Given the description of an element on the screen output the (x, y) to click on. 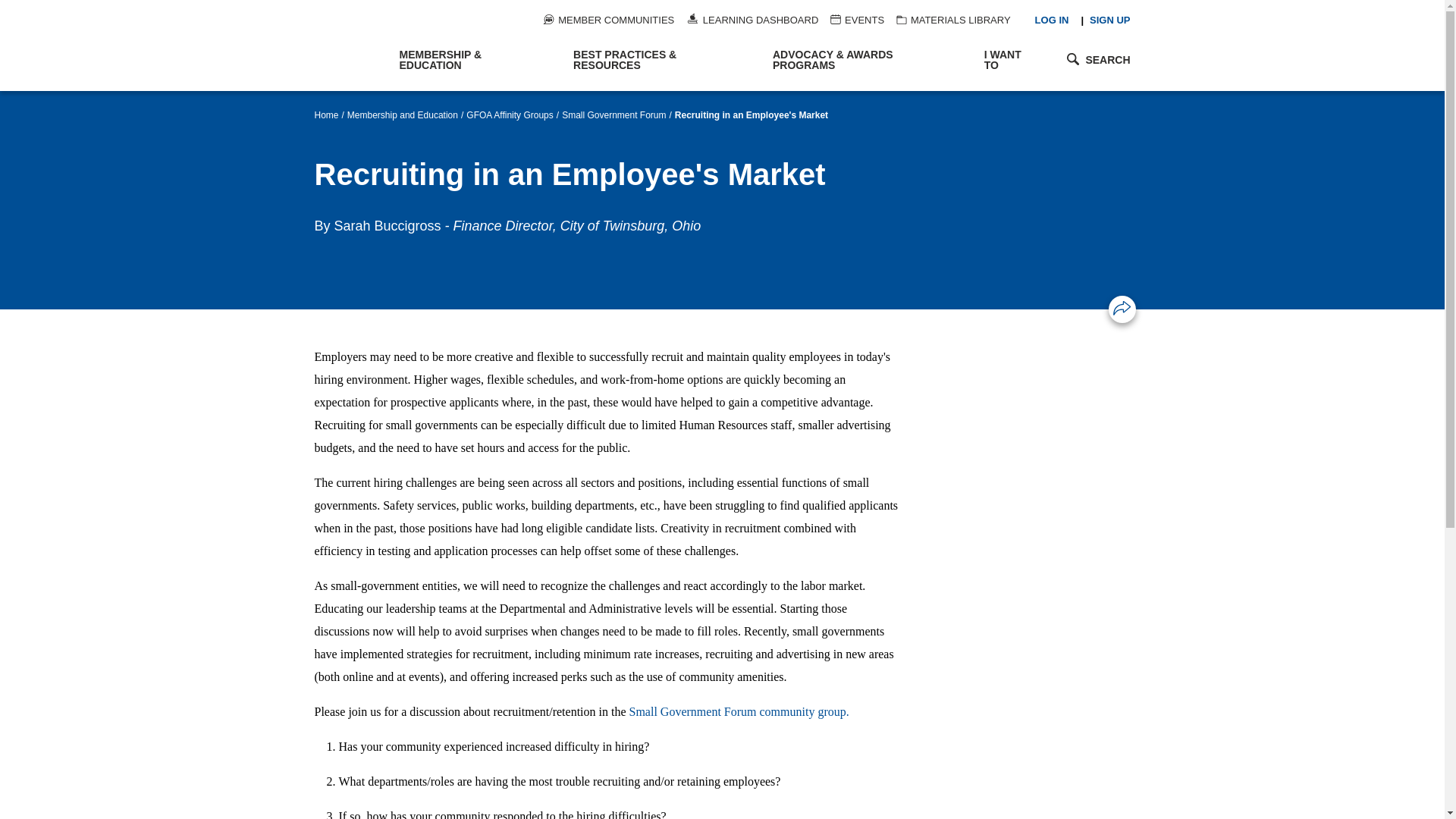
SIGN UP (1109, 19)
MATERIALS LIBRARY (953, 19)
LOG IN (1051, 19)
Home (349, 45)
EVENTS (856, 19)
LEARNING DASHBOARD (751, 19)
Share this page (1122, 308)
MEMBER COMMUNITIES (608, 19)
